Given the description of an element on the screen output the (x, y) to click on. 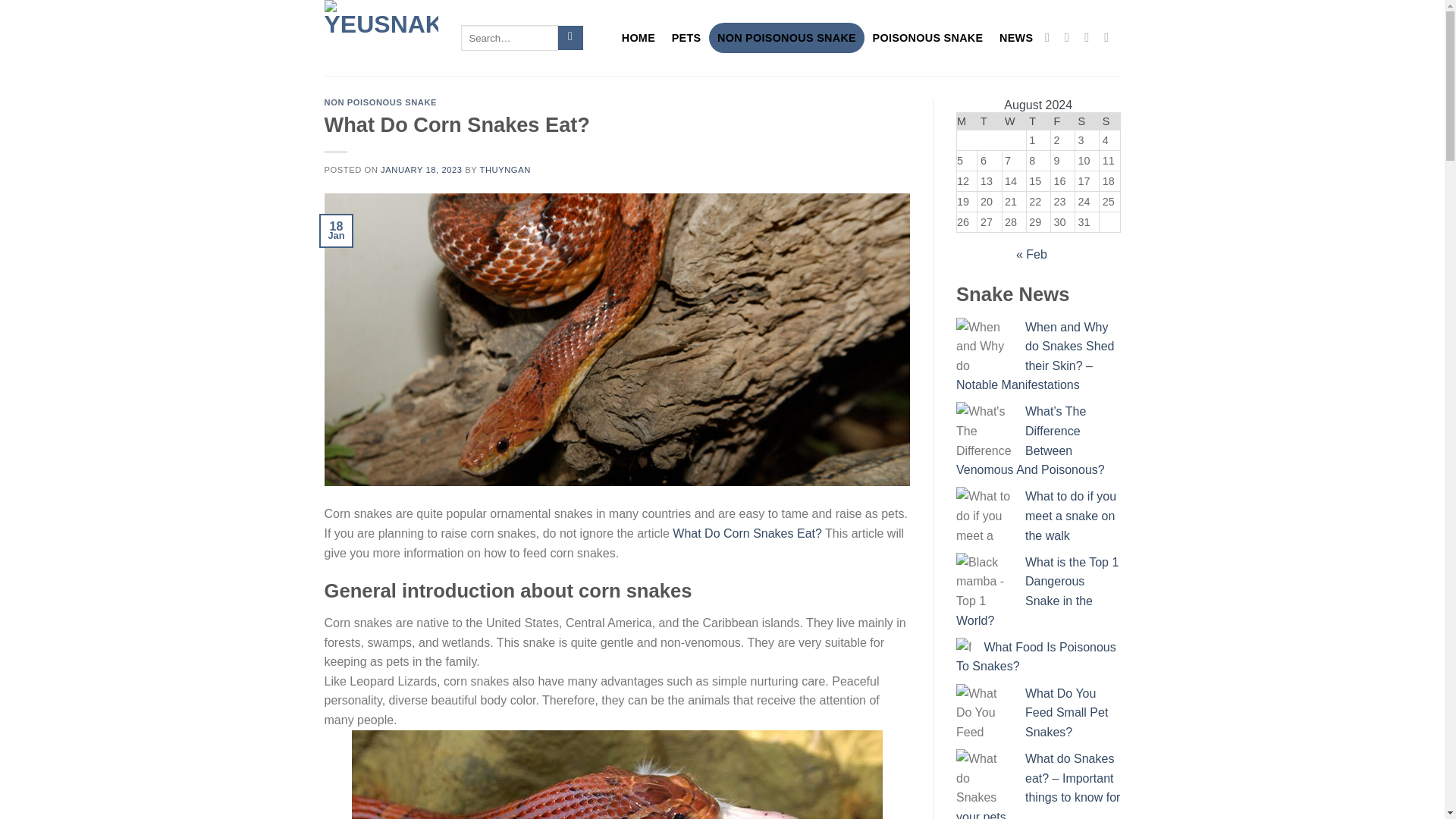
PETS (686, 37)
POISONOUS SNAKE (927, 37)
JANUARY 18, 2023 (420, 169)
Follow on Facebook (1051, 37)
HOME (637, 37)
Follow on Twitter (1070, 37)
THUYNGAN (505, 169)
What to do if you meet a snake on the walk (1070, 515)
What Do Corn Snakes Eat? (747, 533)
yeusnaker.com - Snake Pets, Snake Website Blog News (381, 38)
Follow on YouTube (1109, 37)
Follow on Pinterest (1090, 37)
What is the Top 1 Dangerous Snake in the World? (1037, 591)
NEWS (1016, 37)
